Given the description of an element on the screen output the (x, y) to click on. 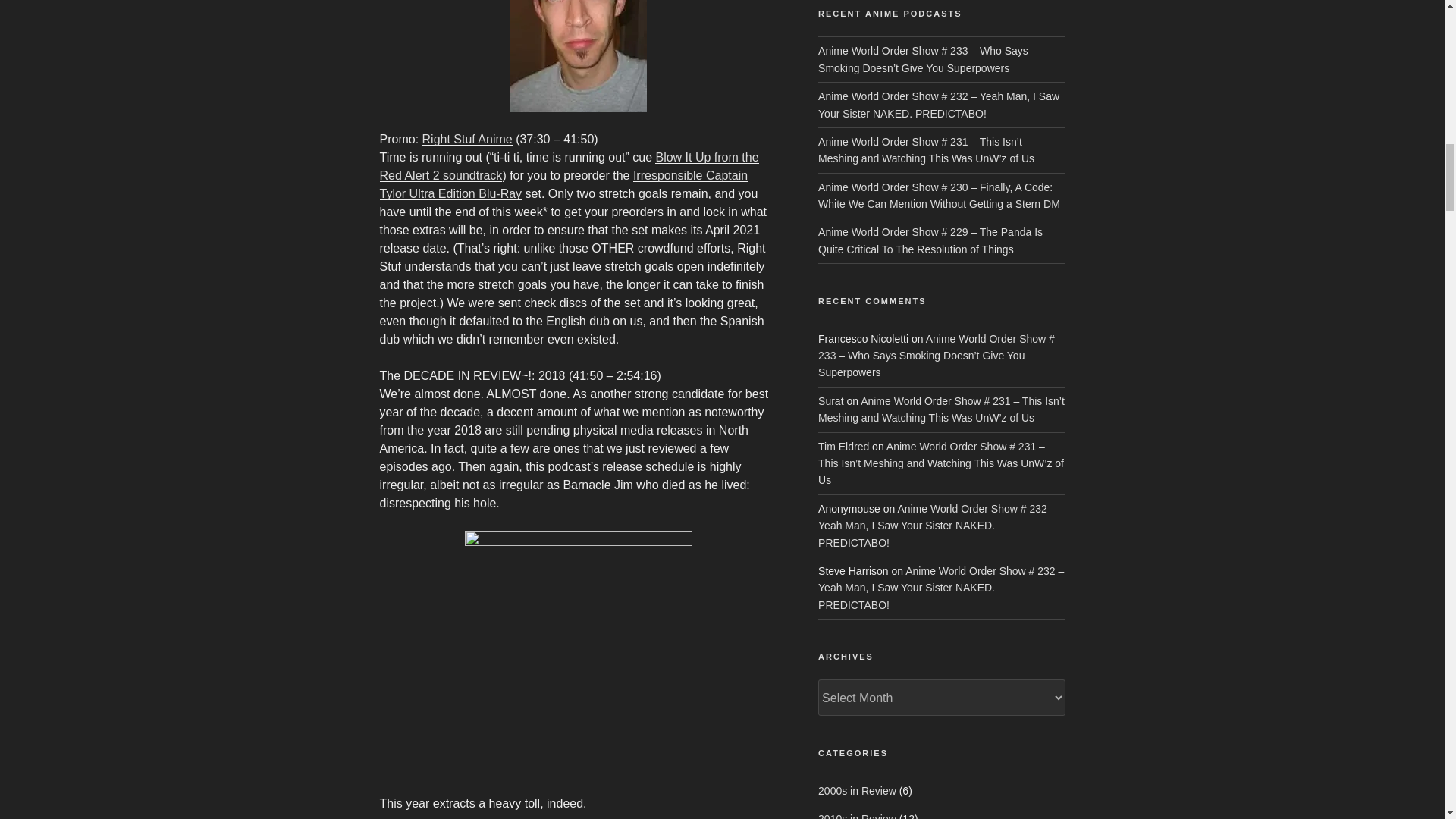
Irresponsible Captain Tylor Ultra Edition Blu-Ray (563, 183)
Right Stuf Anime (467, 138)
Blow It Up from the Red Alert 2 soundtrack (568, 165)
